Given the description of an element on the screen output the (x, y) to click on. 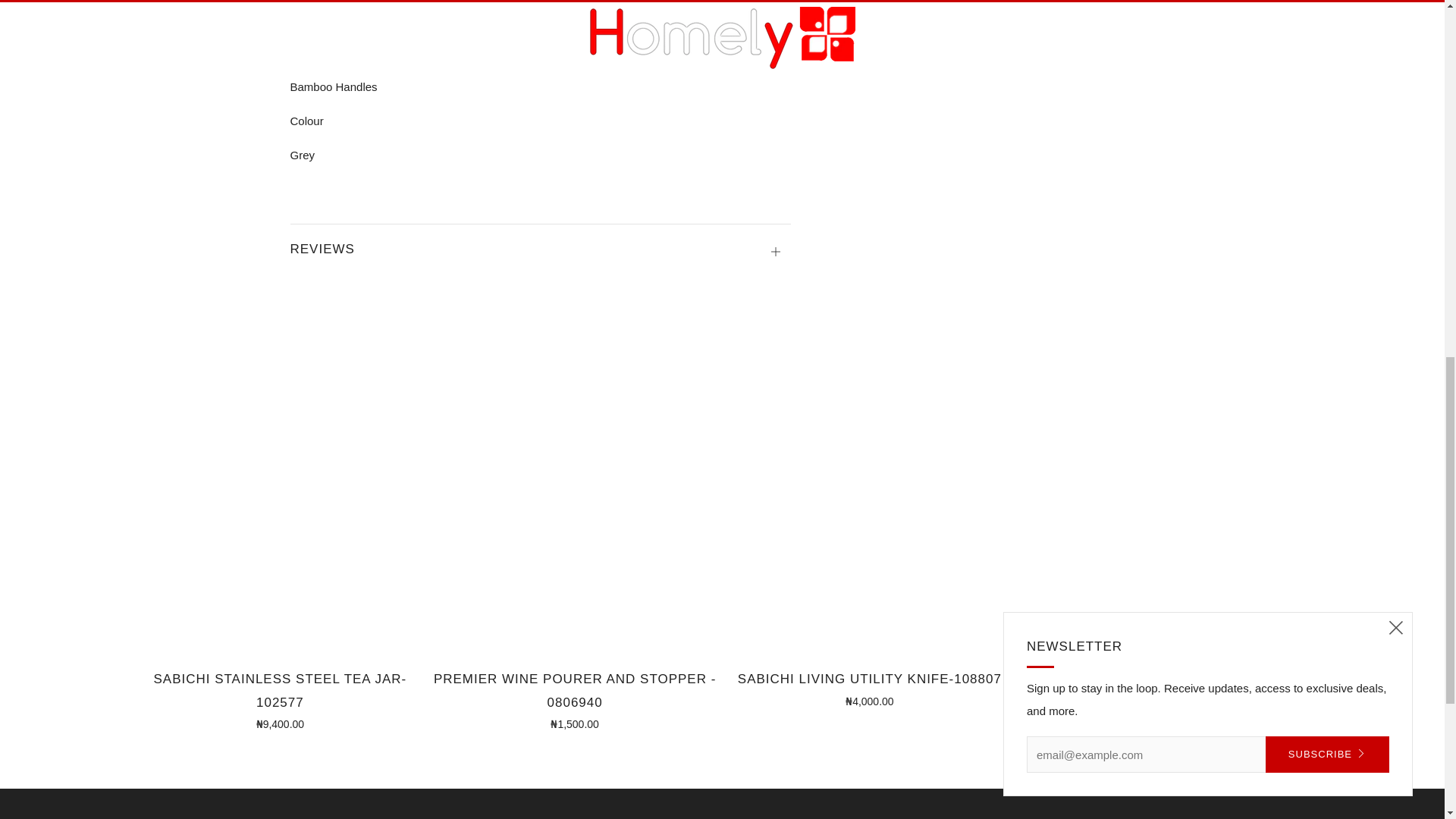
PREMIER WINE POURER AND STOPPER - 0806940 (574, 698)
Sabichi Living Utility Knife-108807 (869, 687)
Sabichi Stainless Steel Tea Jar-102577 (280, 698)
